Given the description of an element on the screen output the (x, y) to click on. 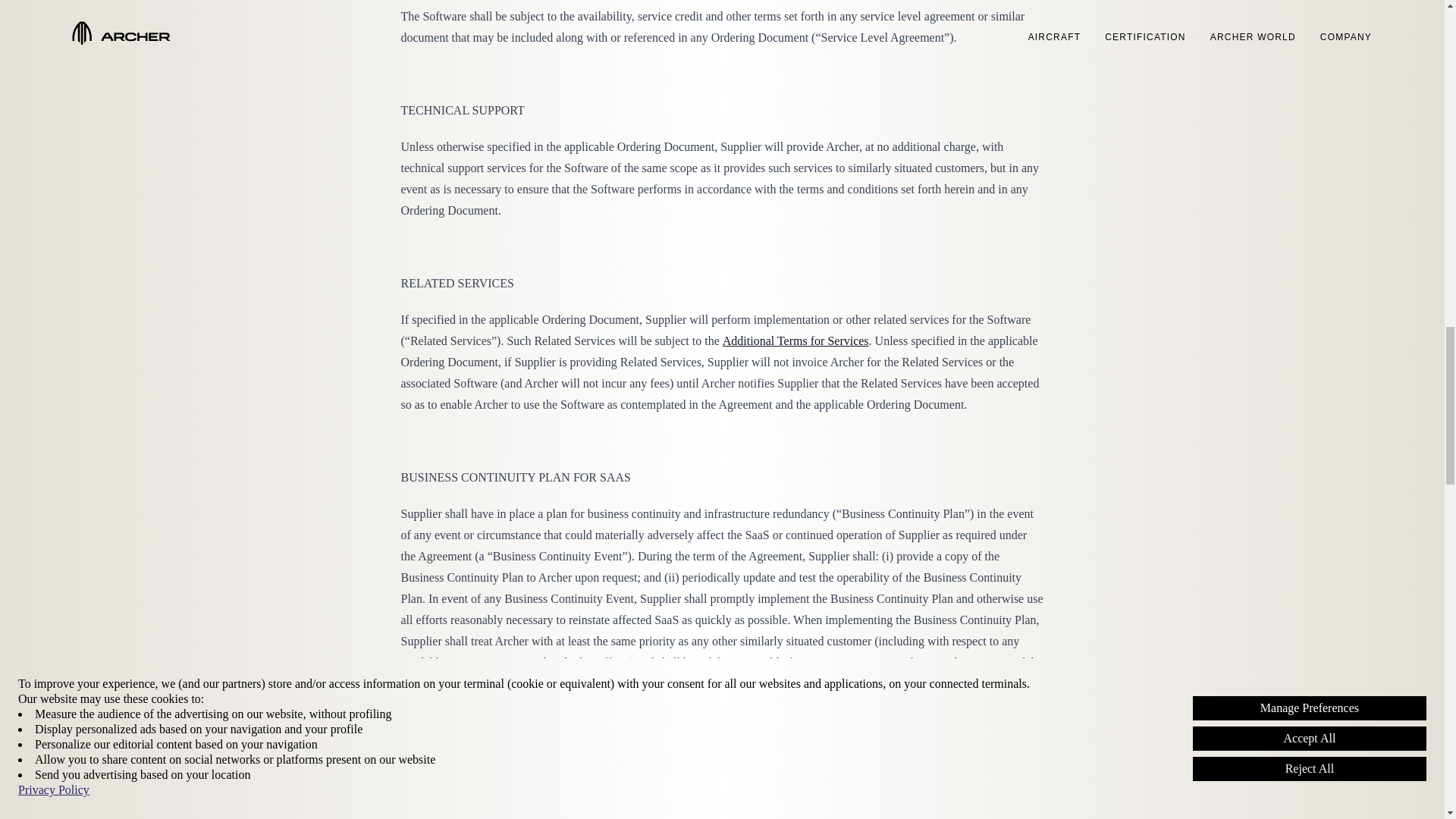
Additional Terms for Services (795, 340)
